Given the description of an element on the screen output the (x, y) to click on. 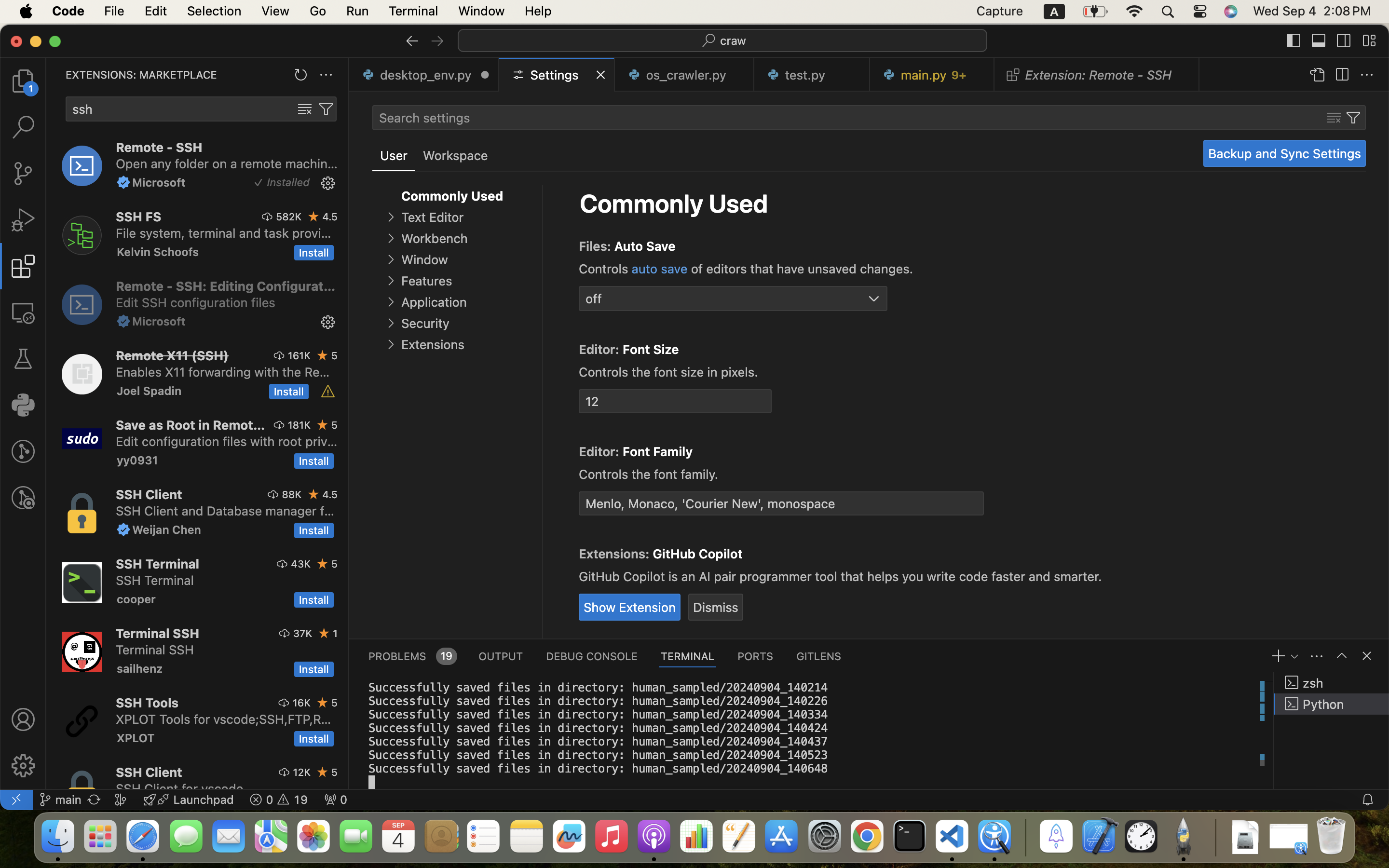
0  Element type: AXRadioButton (23, 127)
Enables X11 forwarding with the Remote - SSH extension. Element type: AXStaticText (222, 371)
0 Element type: AXRadioButton (454, 155)
 Element type: AXGroup (23, 358)
1 Settings   Element type: AXRadioButton (557, 74)
